Given the description of an element on the screen output the (x, y) to click on. 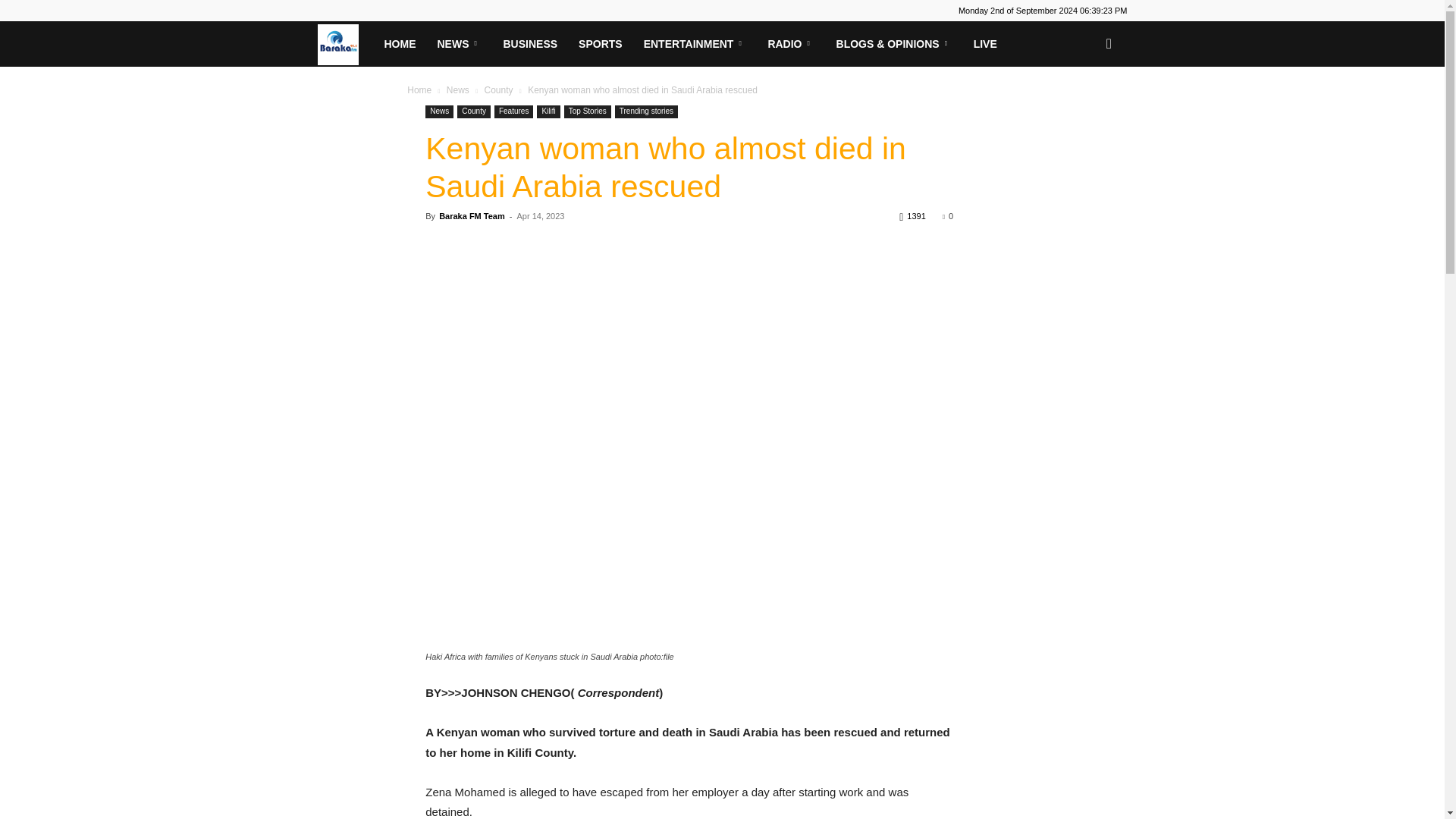
HOME (399, 43)
NEWS (459, 43)
Baraka FM 95.5 (344, 43)
